Given the description of an element on the screen output the (x, y) to click on. 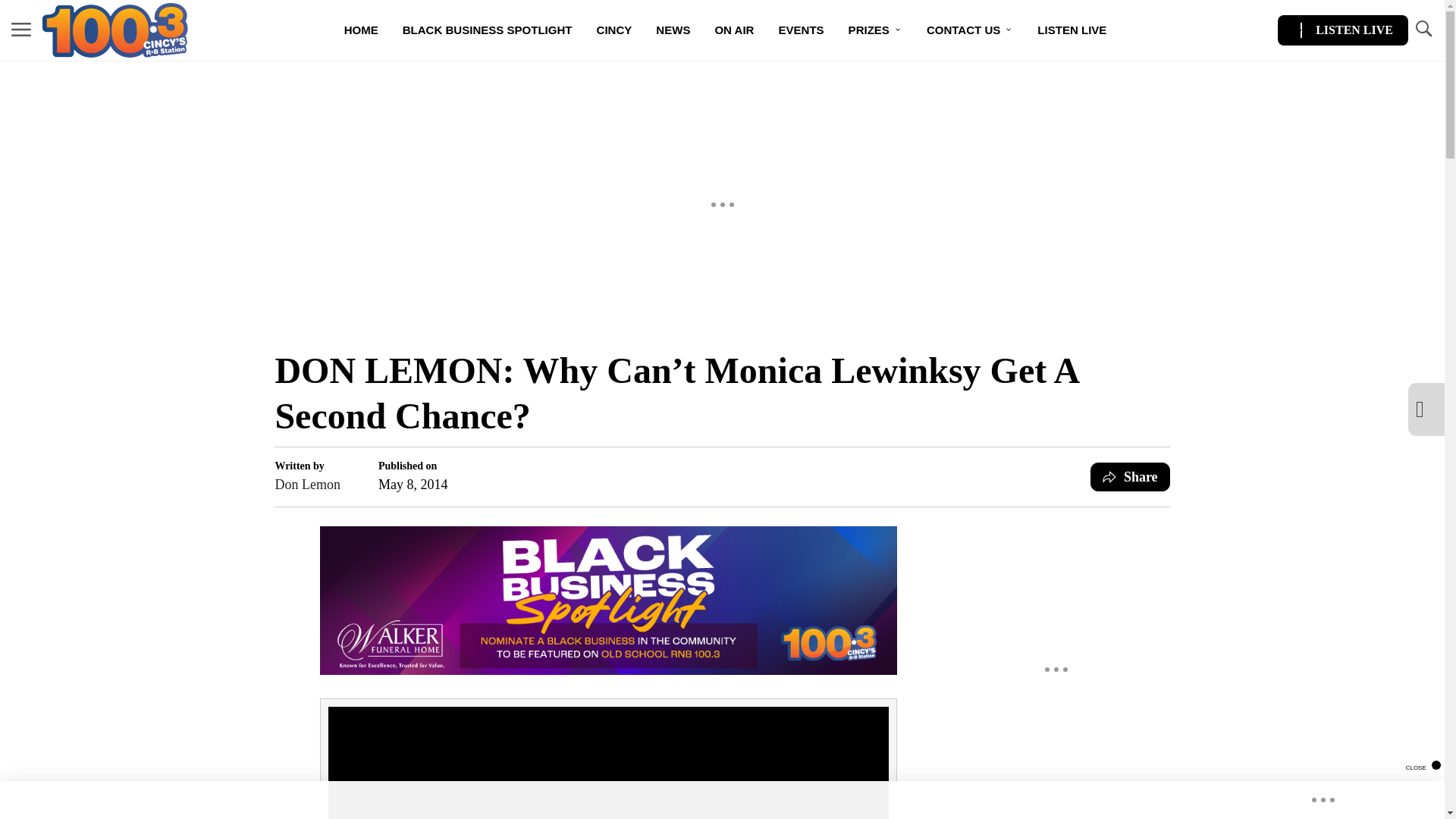
LISTEN LIVE (1342, 30)
CONTACT US (969, 30)
MENU (20, 29)
Don Lemon (307, 484)
HOME (360, 30)
NEWS (672, 30)
MENU (20, 30)
BLACK BUSINESS SPOTLIGHT (487, 30)
TOGGLE SEARCH (1422, 30)
TOGGLE SEARCH (1422, 28)
EVENTS (800, 30)
ON AIR (733, 30)
Share (1130, 476)
PRIZES (874, 30)
CINCY (615, 30)
